Given the description of an element on the screen output the (x, y) to click on. 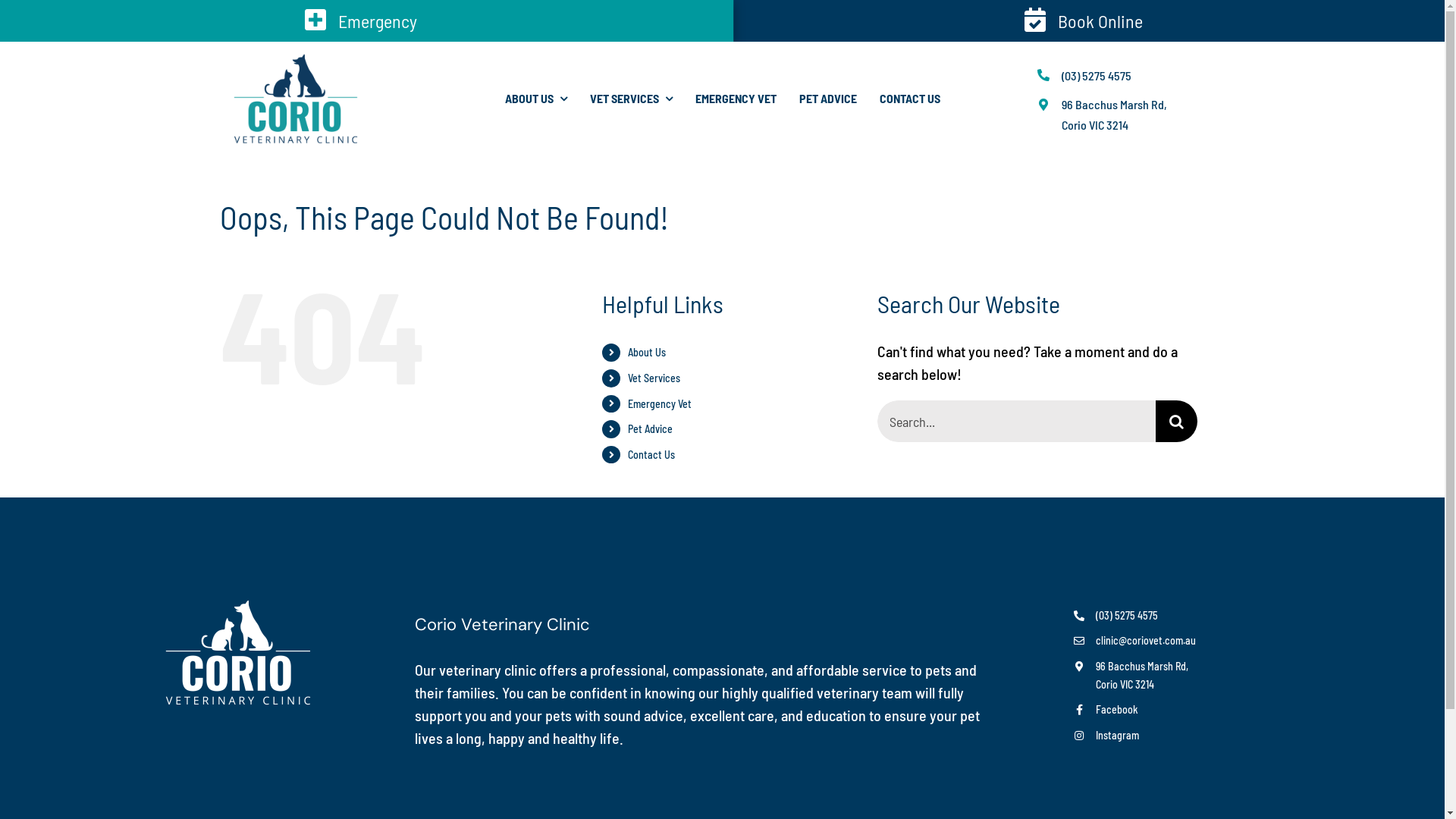
Facebook Element type: text (1116, 708)
Contact Us Element type: text (650, 454)
corio-vet-logo-white Element type: hover (237, 652)
Instagram Element type: text (1117, 734)
96 Bacchus Marsh Rd,
Corio VIC 3214 Element type: text (1141, 674)
(03) 5275 4575 Element type: text (1126, 614)
VET SERVICES Element type: text (630, 98)
EMERGENCY VET Element type: text (734, 98)
ABOUT US Element type: text (536, 98)
CONTACT US Element type: text (909, 98)
clinic@coriovet.com.au Element type: text (1145, 639)
PET ADVICE Element type: text (827, 98)
(03) 5275 4575 Element type: text (1096, 75)
96 Bacchus Marsh Rd,
Corio VIC 3214 Element type: text (1114, 114)
Vet Services Element type: text (653, 377)
Emergency Vet Element type: text (659, 403)
Pet Advice Element type: text (649, 428)
About Us Element type: text (646, 351)
